Given the description of an element on the screen output the (x, y) to click on. 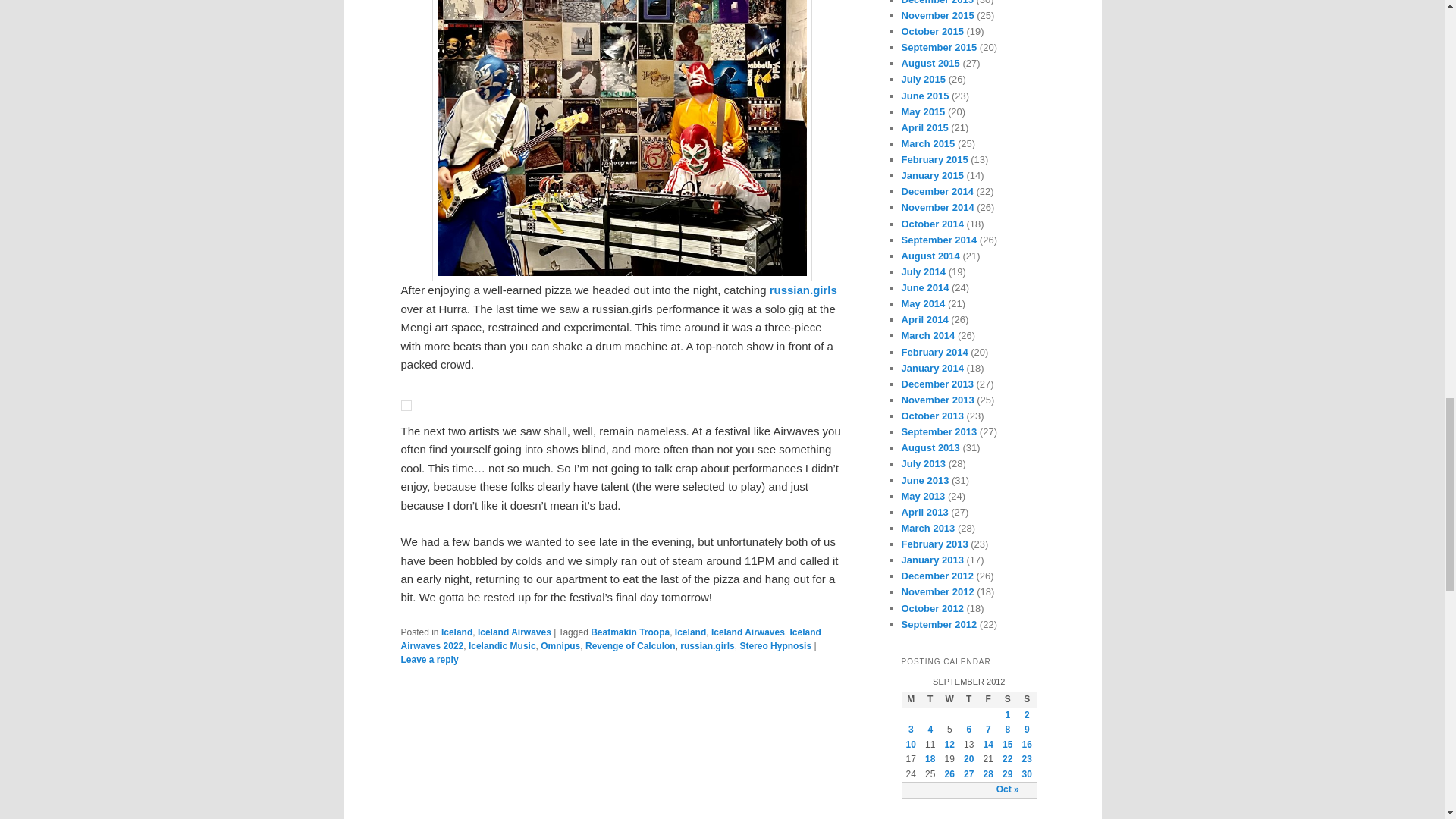
Leave a reply (429, 659)
Iceland Airwaves 2022 (610, 639)
Monday (910, 699)
Iceland (456, 632)
Revenge of Calculon (630, 645)
Wednesday (949, 699)
Beatmakin Troopa (630, 632)
Stereo Hypnosis (774, 645)
Icelandic Music (501, 645)
Iceland Airwaves (514, 632)
